Given the description of an element on the screen output the (x, y) to click on. 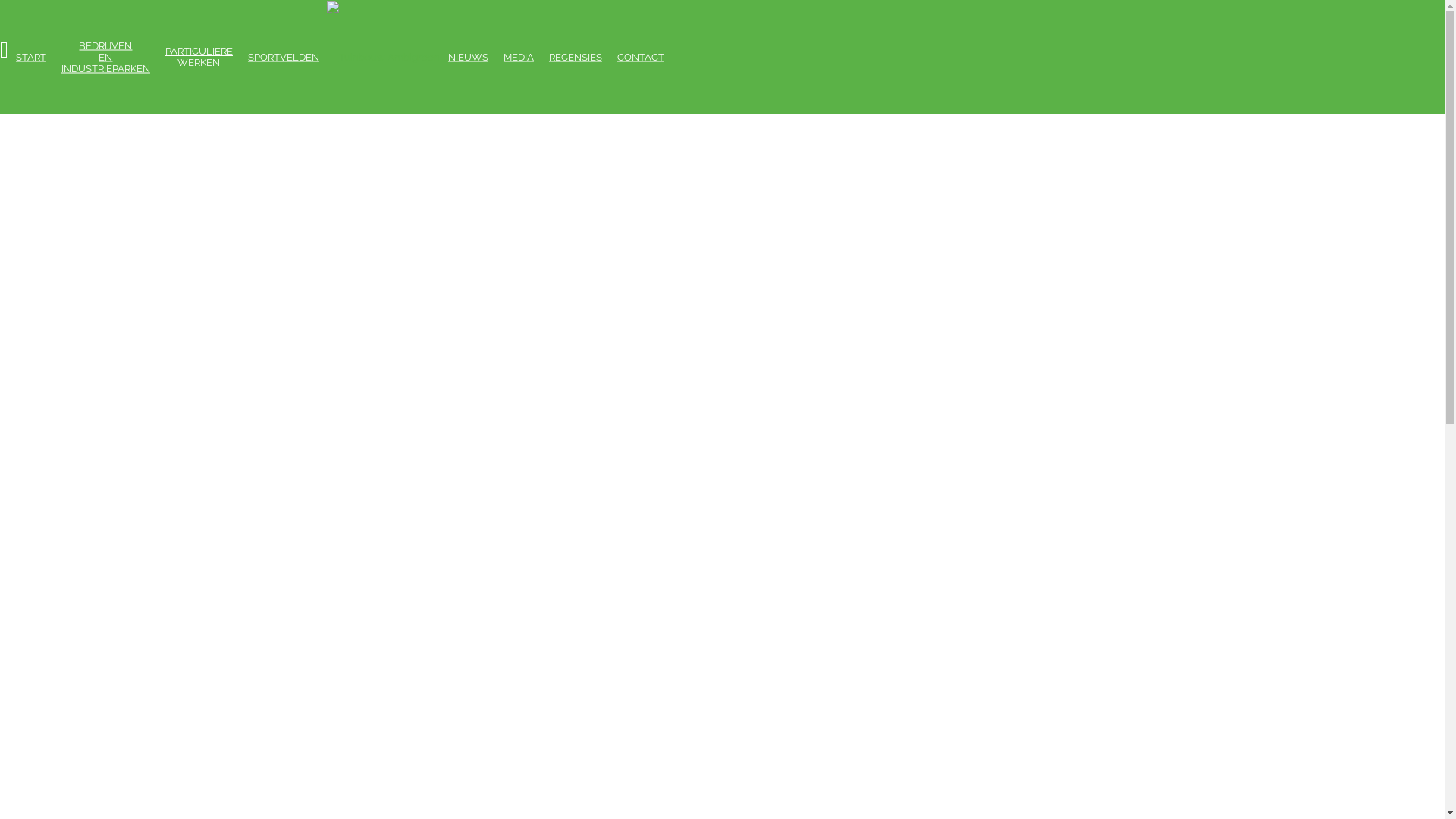
RECENSIES Element type: text (575, 56)
PARTICULIERE
WERKEN Element type: text (198, 56)
CONTACT Element type: text (640, 56)
START Element type: text (30, 56)
BEDRIJVEN
EN
INDUSTRIEPARKEN Element type: text (105, 56)
MEDIA Element type: text (518, 56)
NIEUWS Element type: text (468, 56)
SPORTVELDEN Element type: text (283, 56)
